Given the description of an element on the screen output the (x, y) to click on. 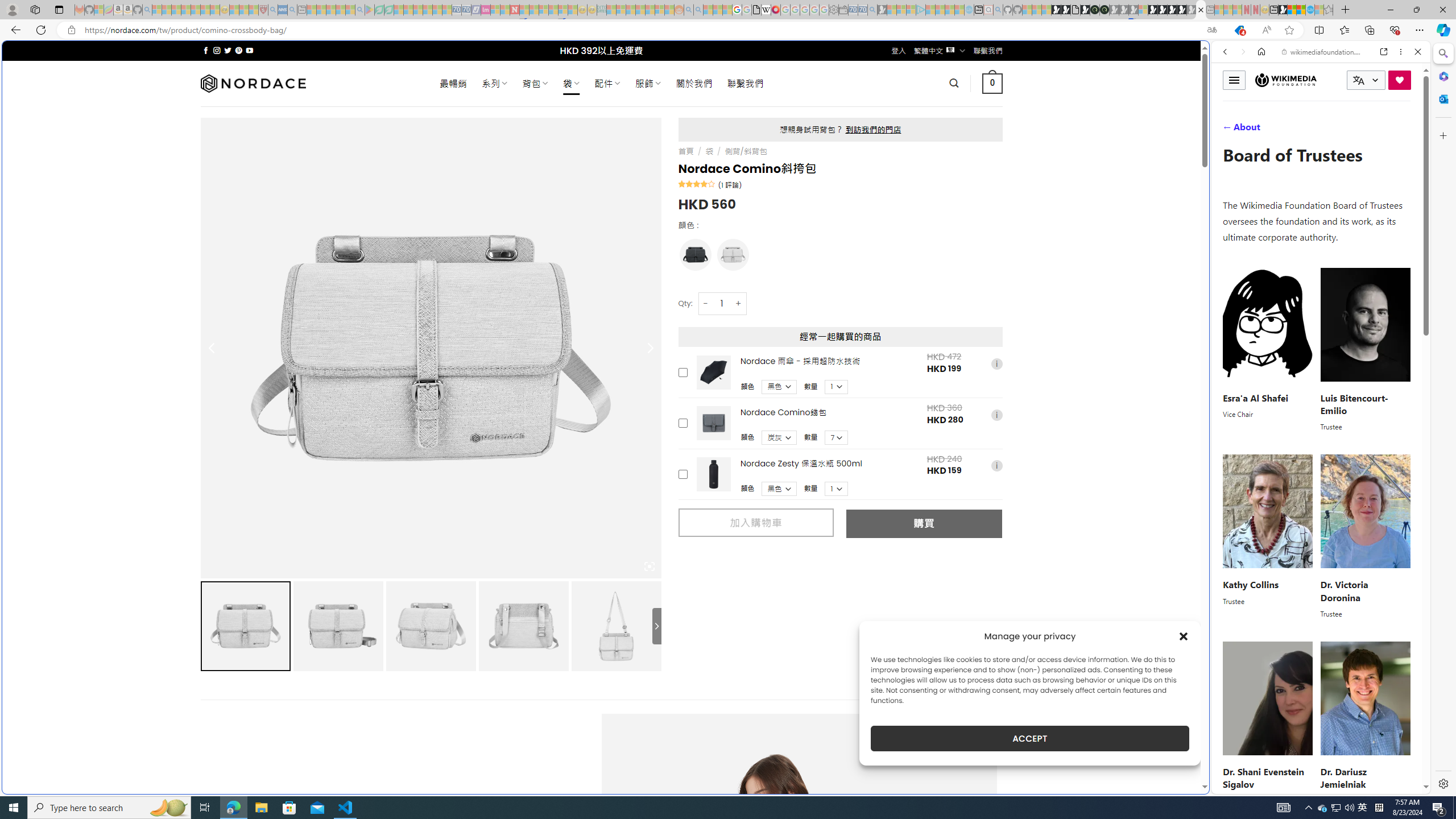
wikimediafoundation.org (1323, 51)
This site has coupons! Shopping in Microsoft Edge, 4 (1239, 29)
